Given the description of an element on the screen output the (x, y) to click on. 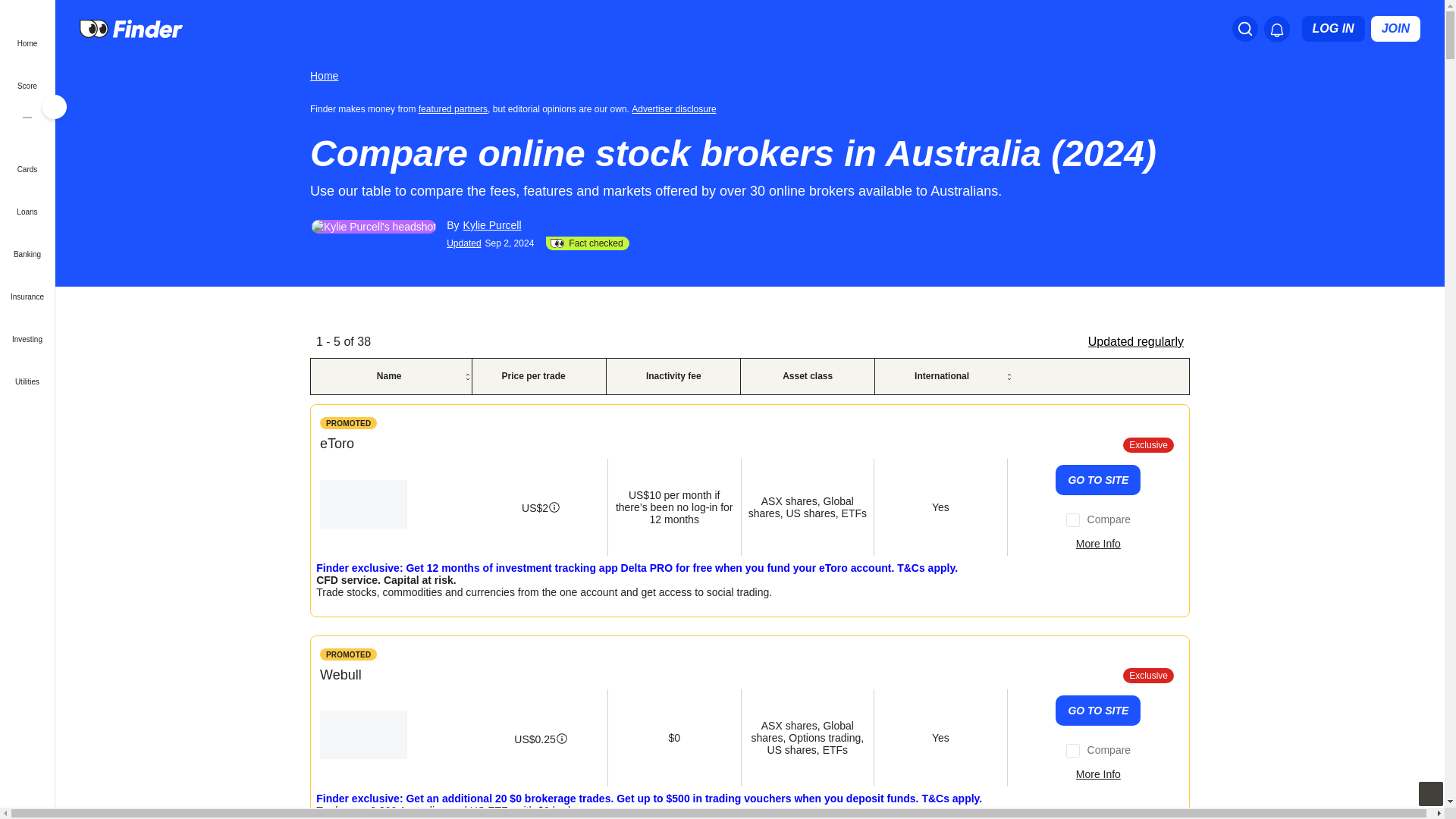
Important information about this website (348, 422)
Apply Now For The Webull (1097, 710)
Read More About The eToro (1097, 543)
Important information about this website (348, 654)
Apply Now For The eToro (1097, 480)
Important information about this website (676, 108)
Read More About The Webull (1097, 774)
